Given the description of an element on the screen output the (x, y) to click on. 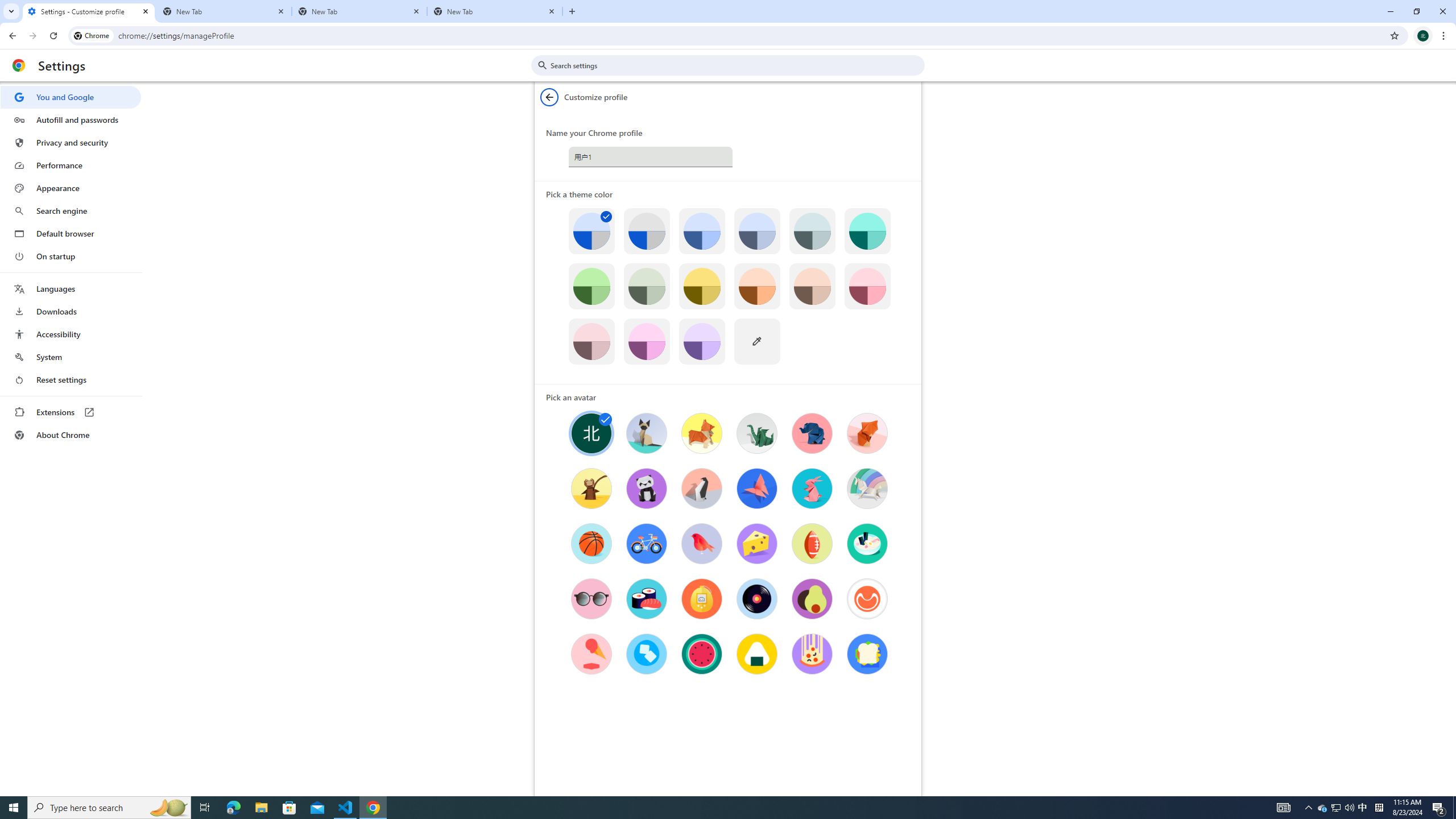
Reset settings (70, 379)
Extensions (70, 412)
Settings - Customize profile (88, 11)
On startup (70, 255)
Default browser (70, 233)
Languages (70, 288)
About Chrome (70, 434)
New Tab (359, 11)
